Given the description of an element on the screen output the (x, y) to click on. 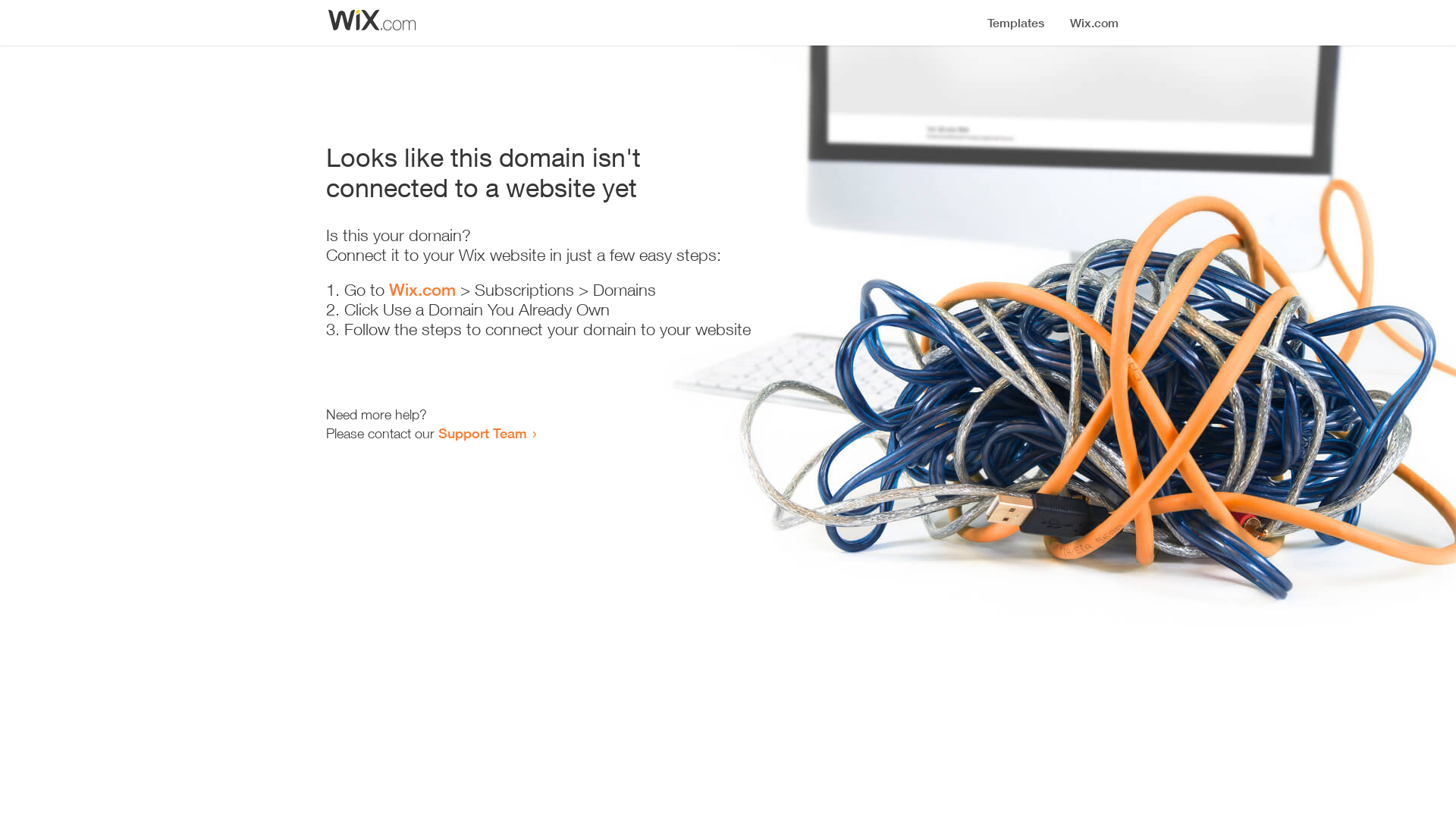
Wix.com Element type: text (422, 289)
Support Team Element type: text (482, 432)
